Given the description of an element on the screen output the (x, y) to click on. 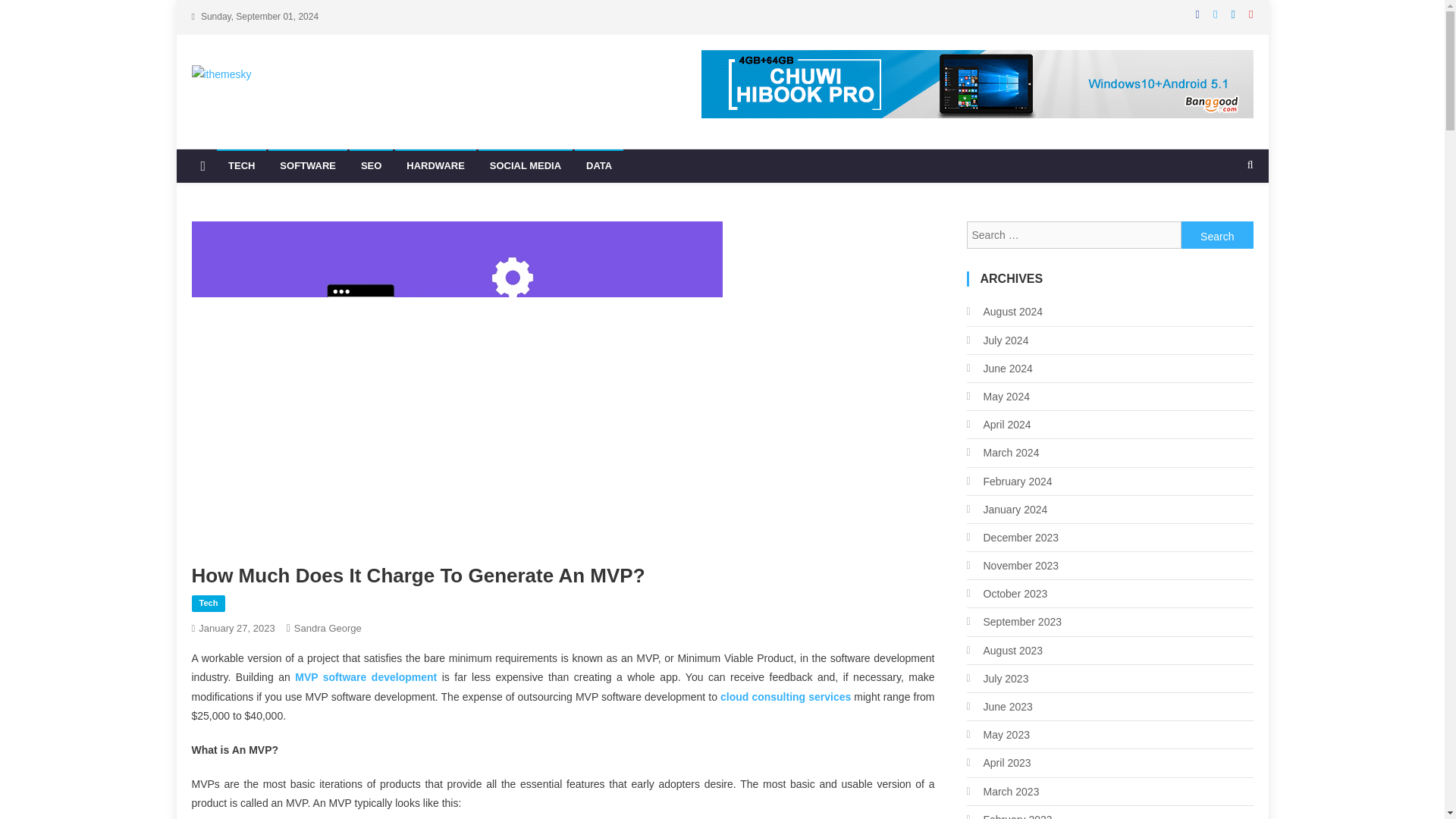
SOFTWARE (307, 165)
MVP software development (365, 676)
Search (1216, 234)
July 2024 (996, 340)
January 27, 2023 (236, 627)
Search (1216, 234)
Sandra George (327, 627)
HARDWARE (435, 165)
Tech (207, 603)
DATA (599, 165)
